Given the description of an element on the screen output the (x, y) to click on. 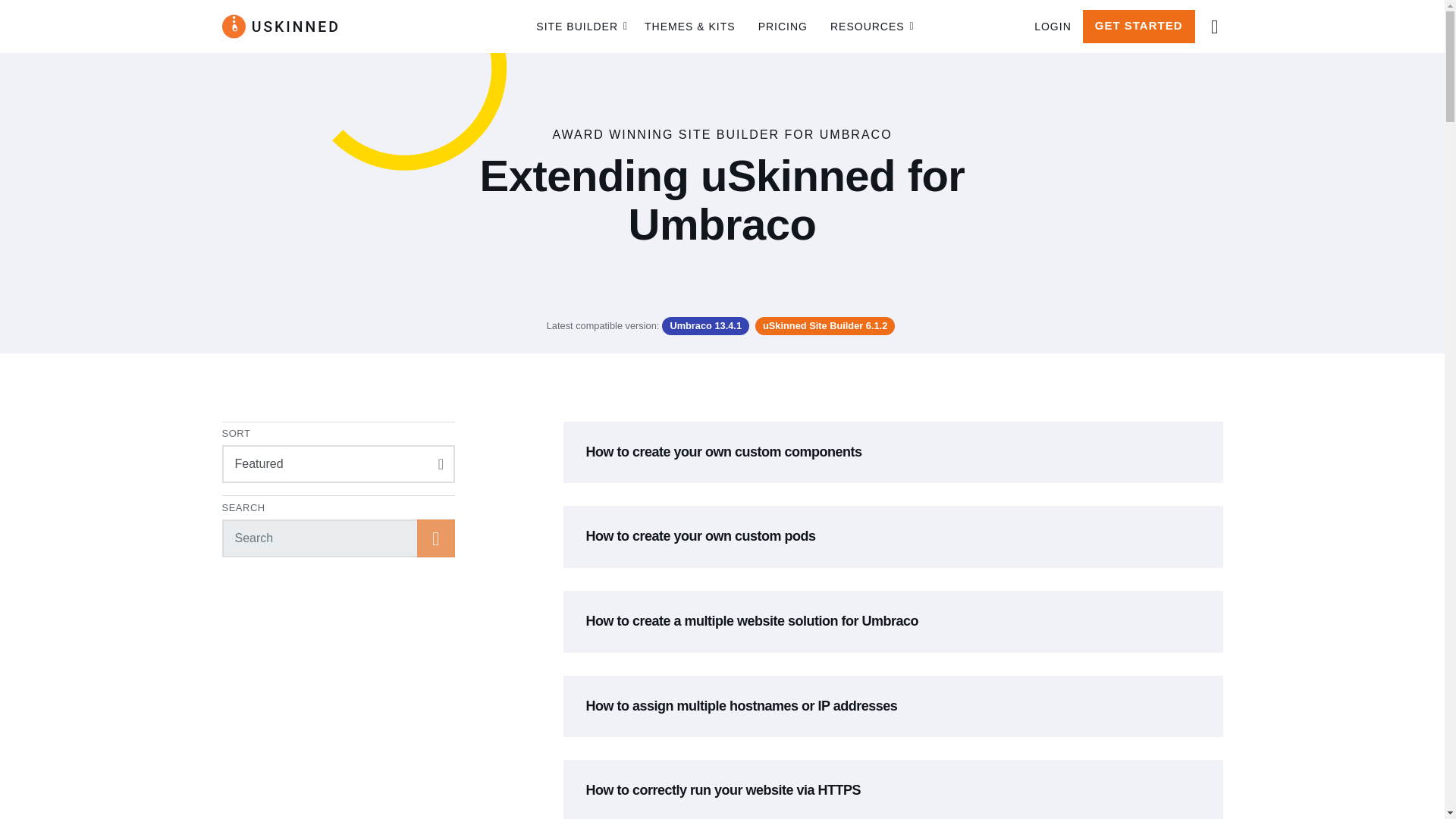
uSkinned Site Builder for Umbraco CMS (278, 26)
SITE BUILDER (578, 26)
GET STARTED (1139, 26)
LOGIN (1052, 26)
PRICING (782, 26)
RESOURCES (869, 26)
